Given the description of an element on the screen output the (x, y) to click on. 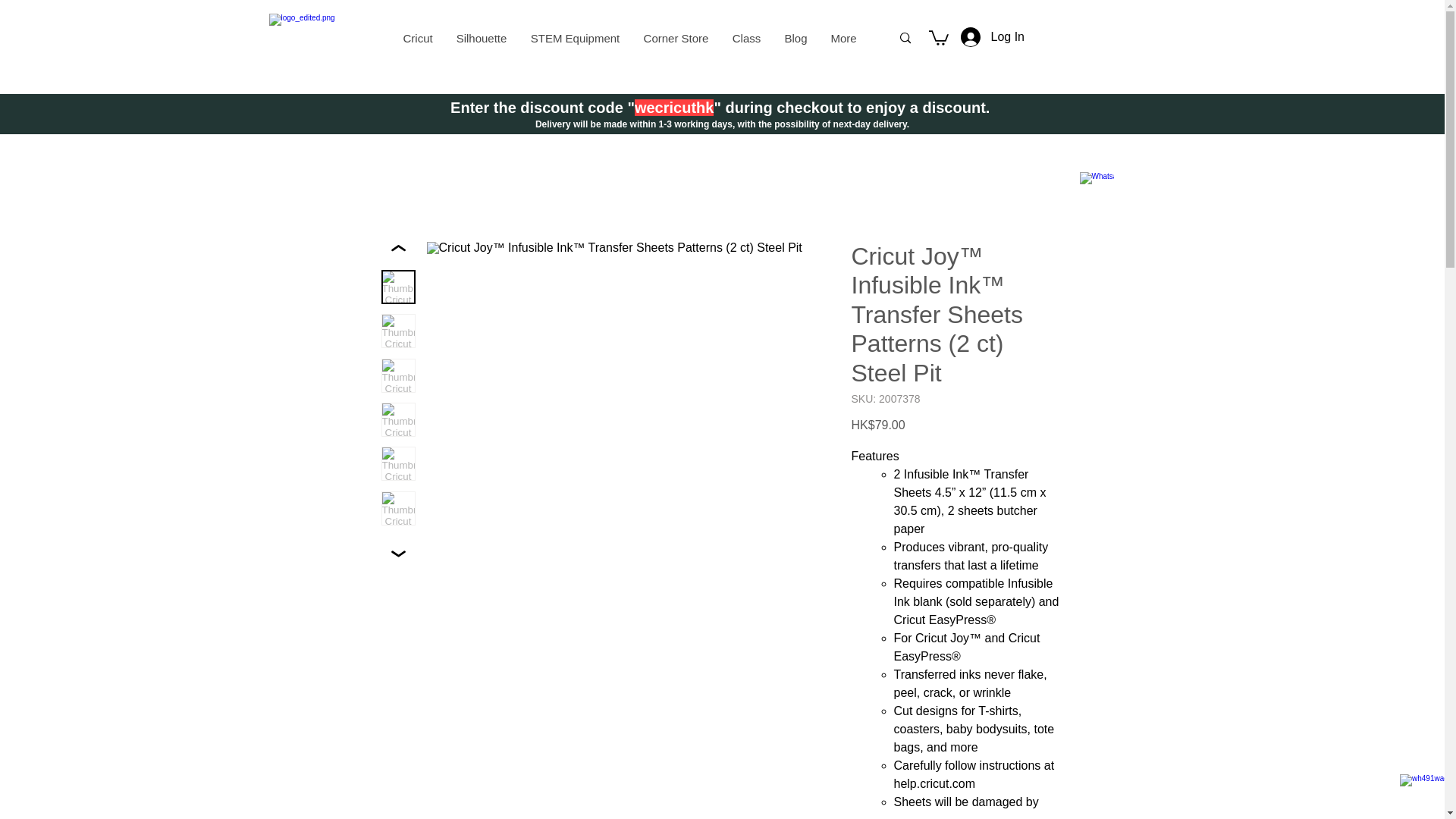
Log In (962, 36)
Corner Store (674, 38)
Silhouette (481, 38)
Blog (794, 38)
Cricut (417, 38)
logo.jpg (311, 34)
